Given the description of an element on the screen output the (x, y) to click on. 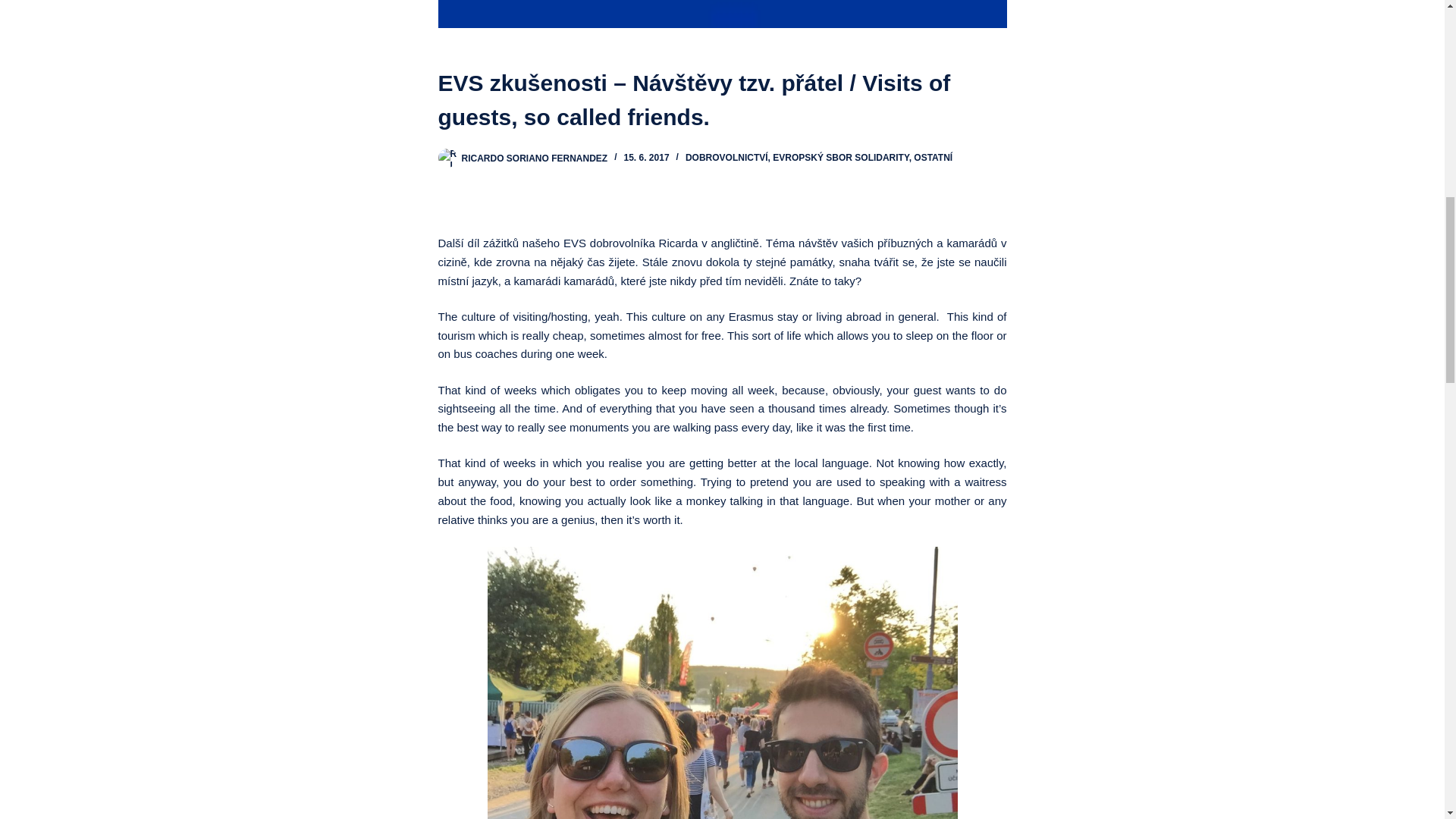
Posts by Ricardo Soriano Fernandez (534, 157)
